Given the description of an element on the screen output the (x, y) to click on. 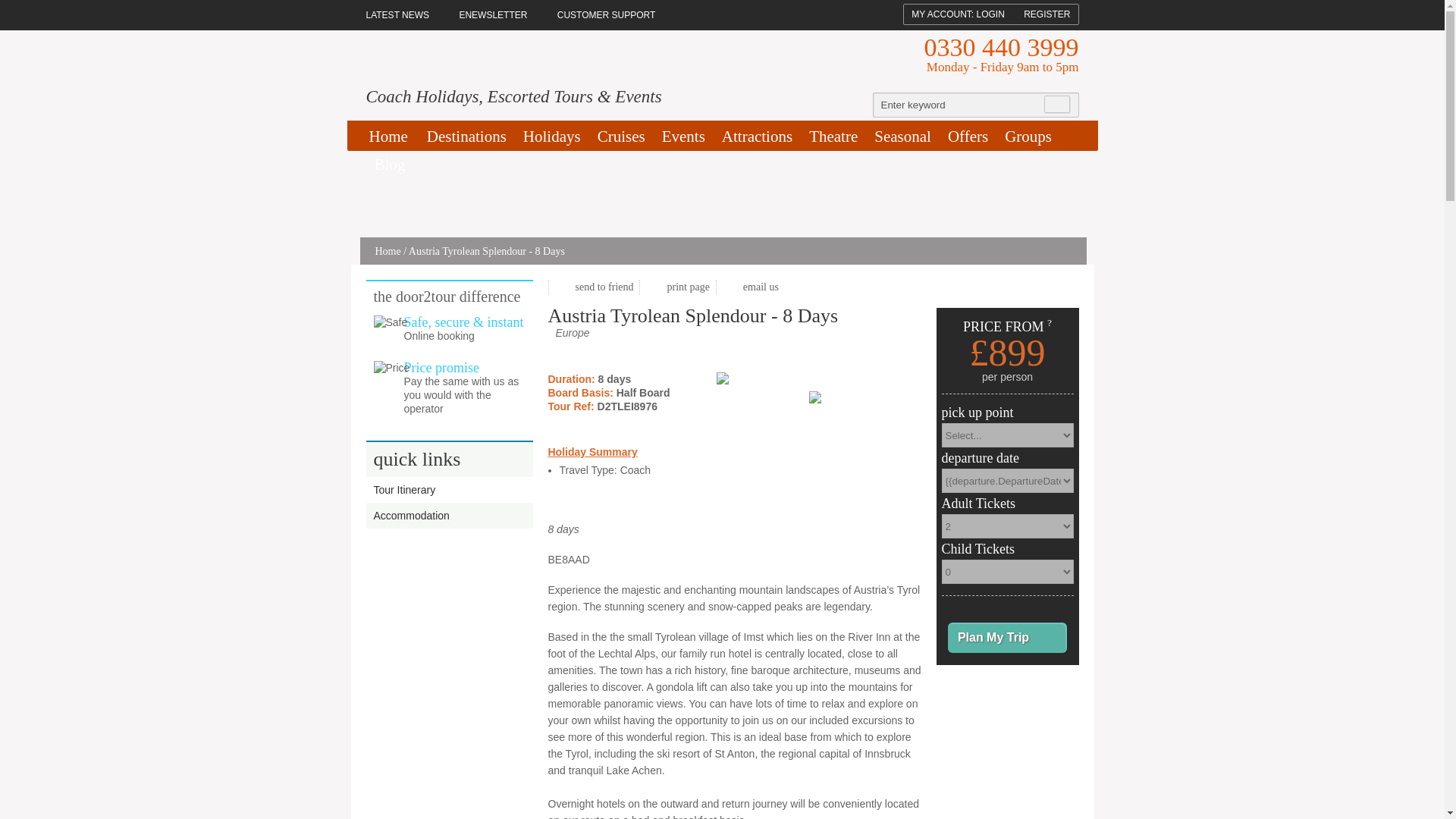
Destinations (467, 135)
LATEST NEWS (403, 15)
Enter keyword (958, 104)
Holidays (552, 135)
ENEWSLETTER (492, 15)
Door 2 Tour (480, 62)
Home (391, 135)
REGISTER (1046, 14)
CUSTOMER SUPPORT (606, 15)
LOGIN (989, 14)
